Given the description of an element on the screen output the (x, y) to click on. 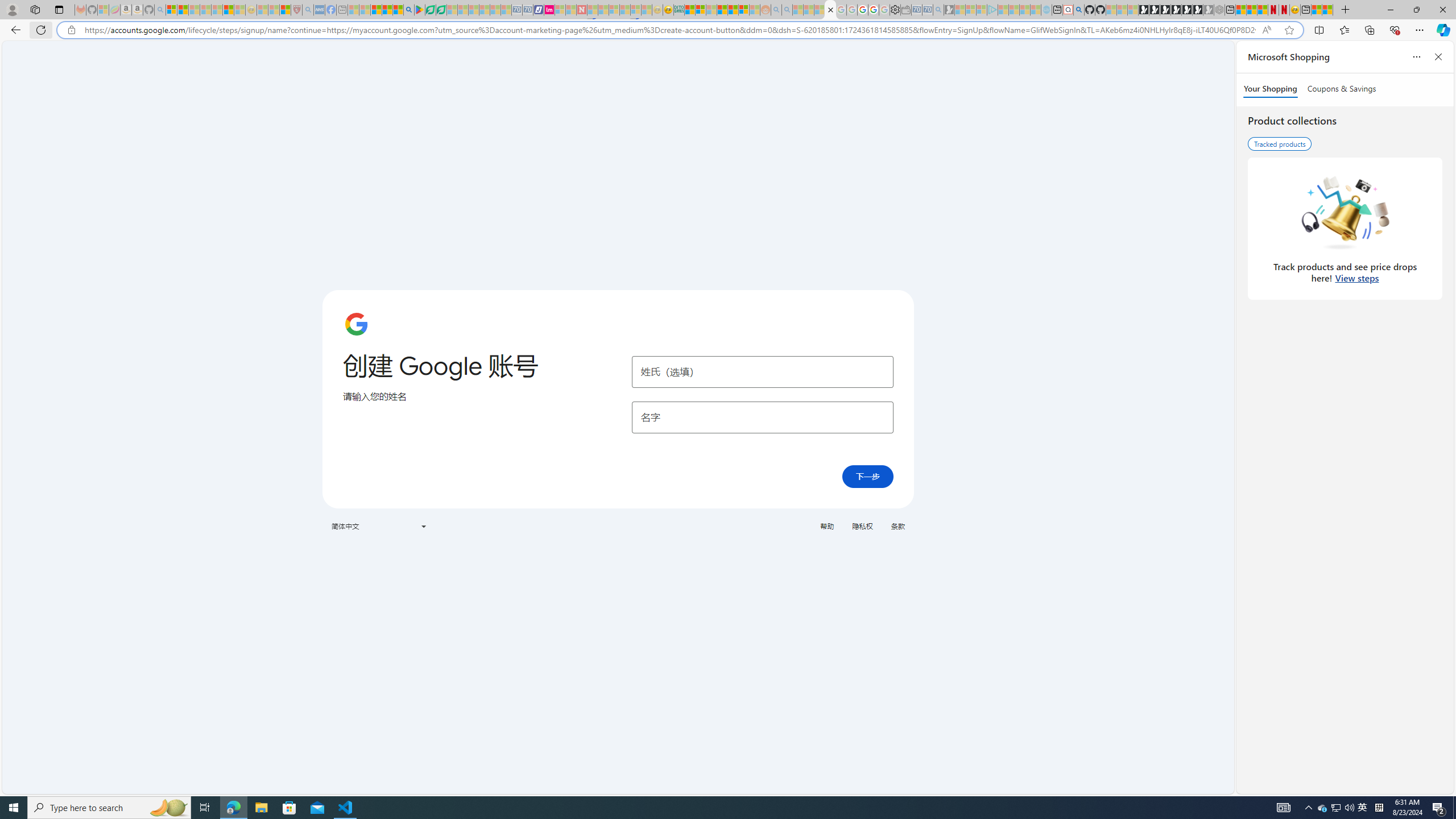
Terms of Use Agreement (430, 9)
New Report Confirms 2023 Was Record Hot | Watch - Sleeping (216, 9)
New tab - Sleeping (341, 9)
Play Cave FRVR in your browser | Games from Microsoft Start (1164, 9)
Home | Sky Blue Bikes - Sky Blue Bikes - Sleeping (1046, 9)
Class: VfPpkd-t08AT-Bz112c-Bd00G (423, 526)
Latest Politics News & Archive | Newsweek.com - Sleeping (582, 9)
Bing Real Estate - Home sales and rental listings - Sleeping (938, 9)
